Given the description of an element on the screen output the (x, y) to click on. 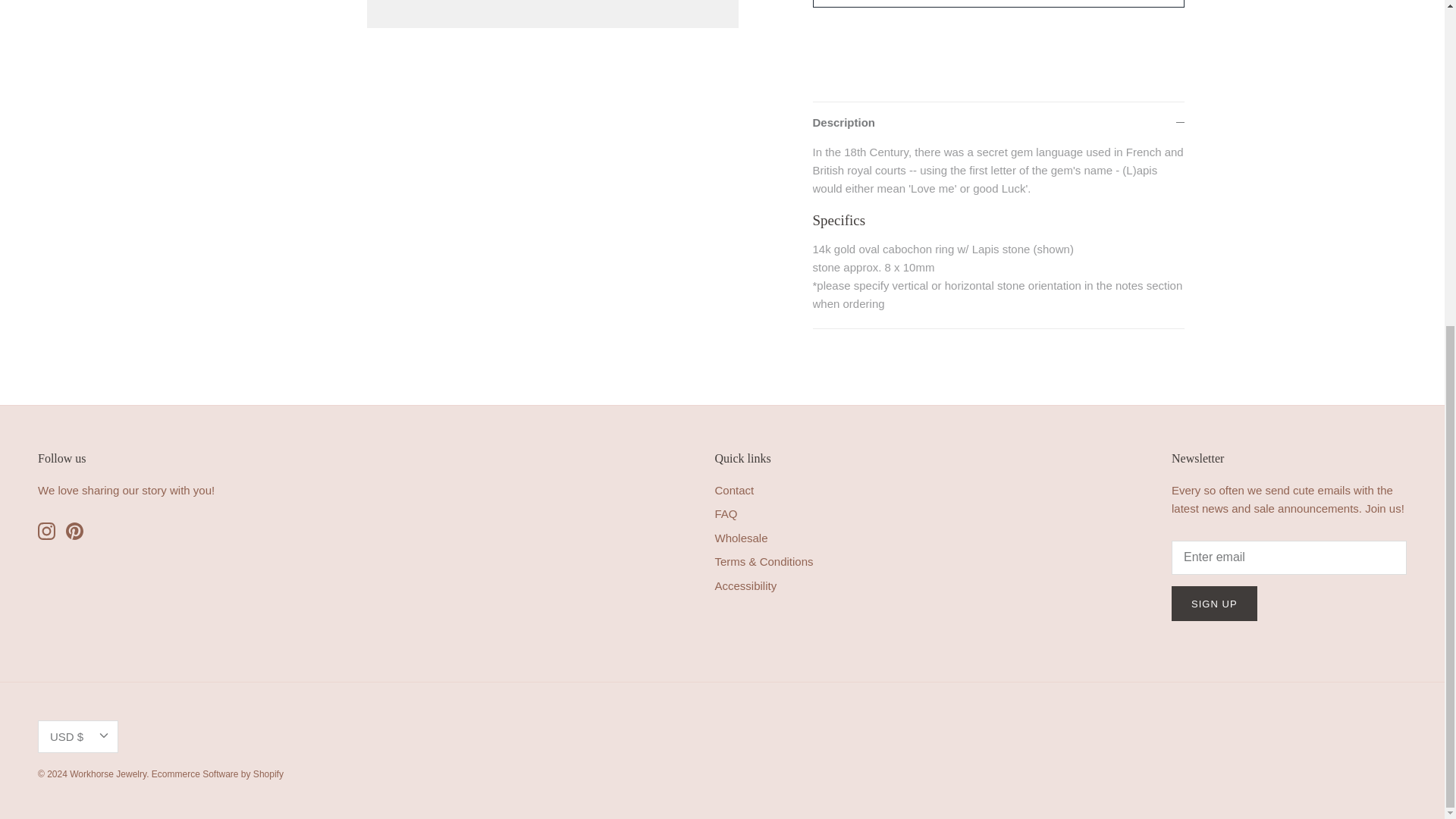
ADD TO CART (998, 3)
Instagram (46, 530)
Down (103, 735)
Pinterest (73, 530)
